Given the description of an element on the screen output the (x, y) to click on. 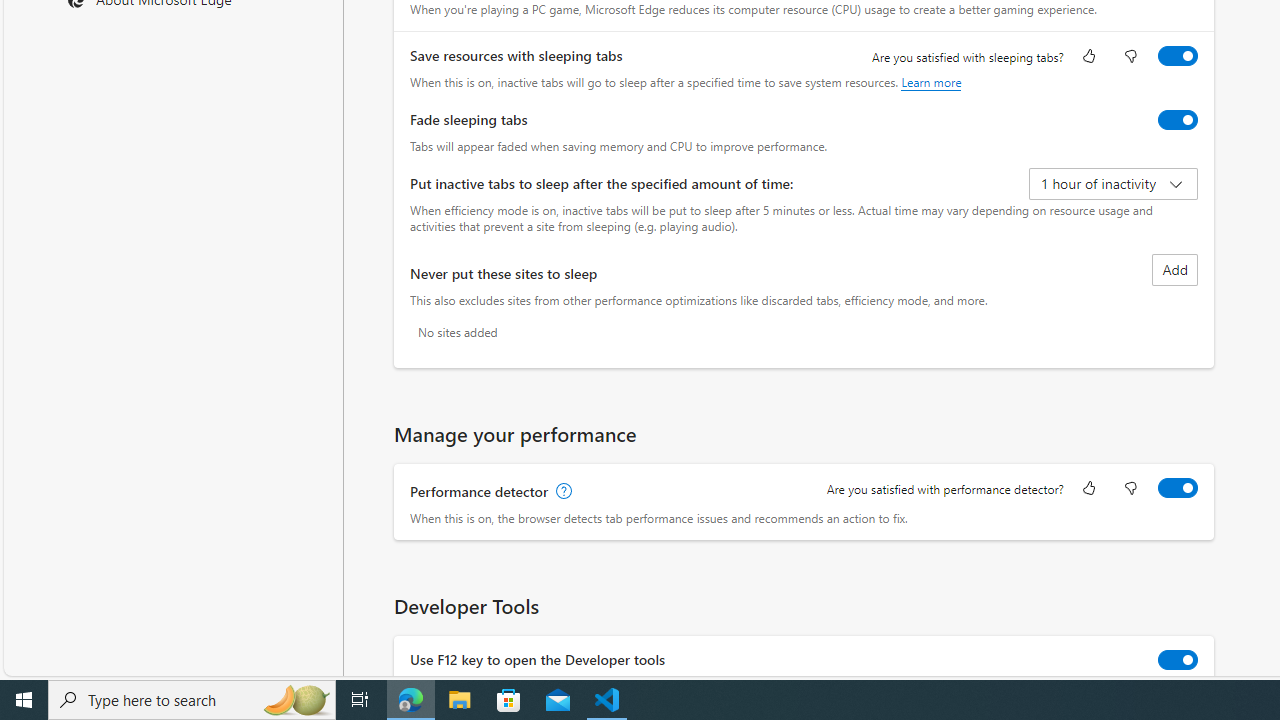
Performance detector (1178, 488)
Fade sleeping tabs (1178, 120)
Save resources with sleeping tabs (1178, 56)
Use F12 key to open the Developer tools (1178, 660)
Add site to never put these sites to sleep list (1175, 269)
Learn more (931, 82)
Performance detector, learn more (562, 492)
Like (1089, 489)
